Given the description of an element on the screen output the (x, y) to click on. 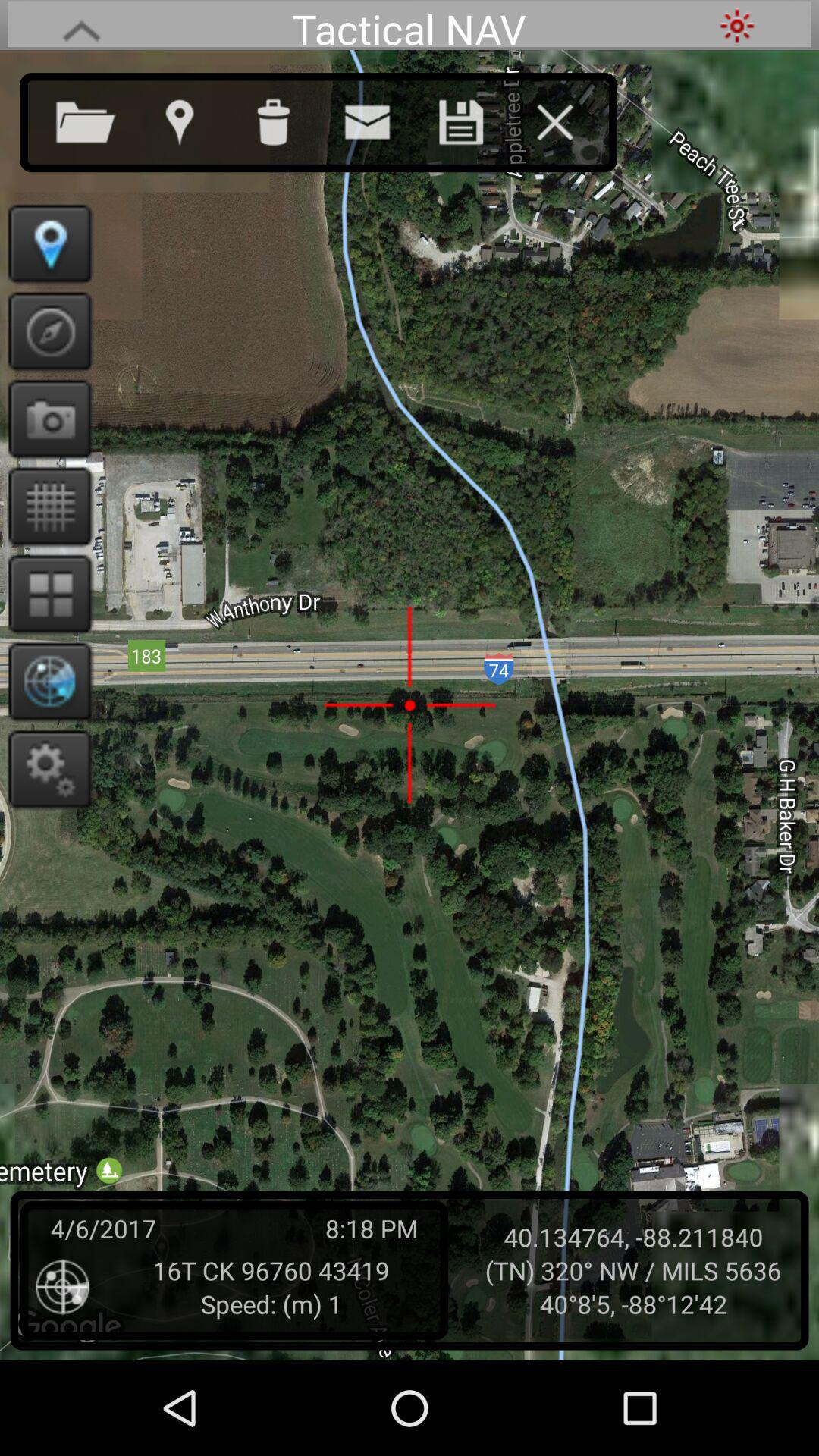
send an email (382, 119)
